Given the description of an element on the screen output the (x, y) to click on. 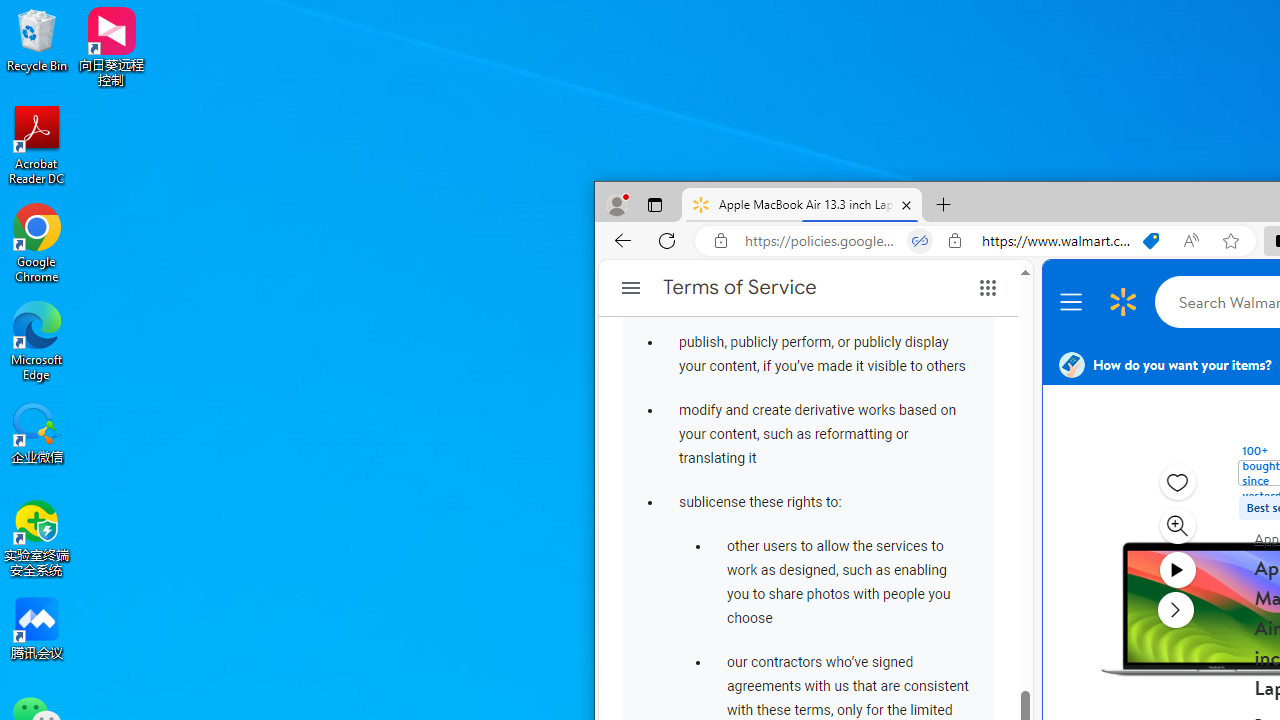
Zoom image modal (1176, 526)
Acrobat Reader DC (37, 144)
Tabs in split screen (920, 241)
View video (1176, 570)
Recycle Bin (37, 39)
